Given the description of an element on the screen output the (x, y) to click on. 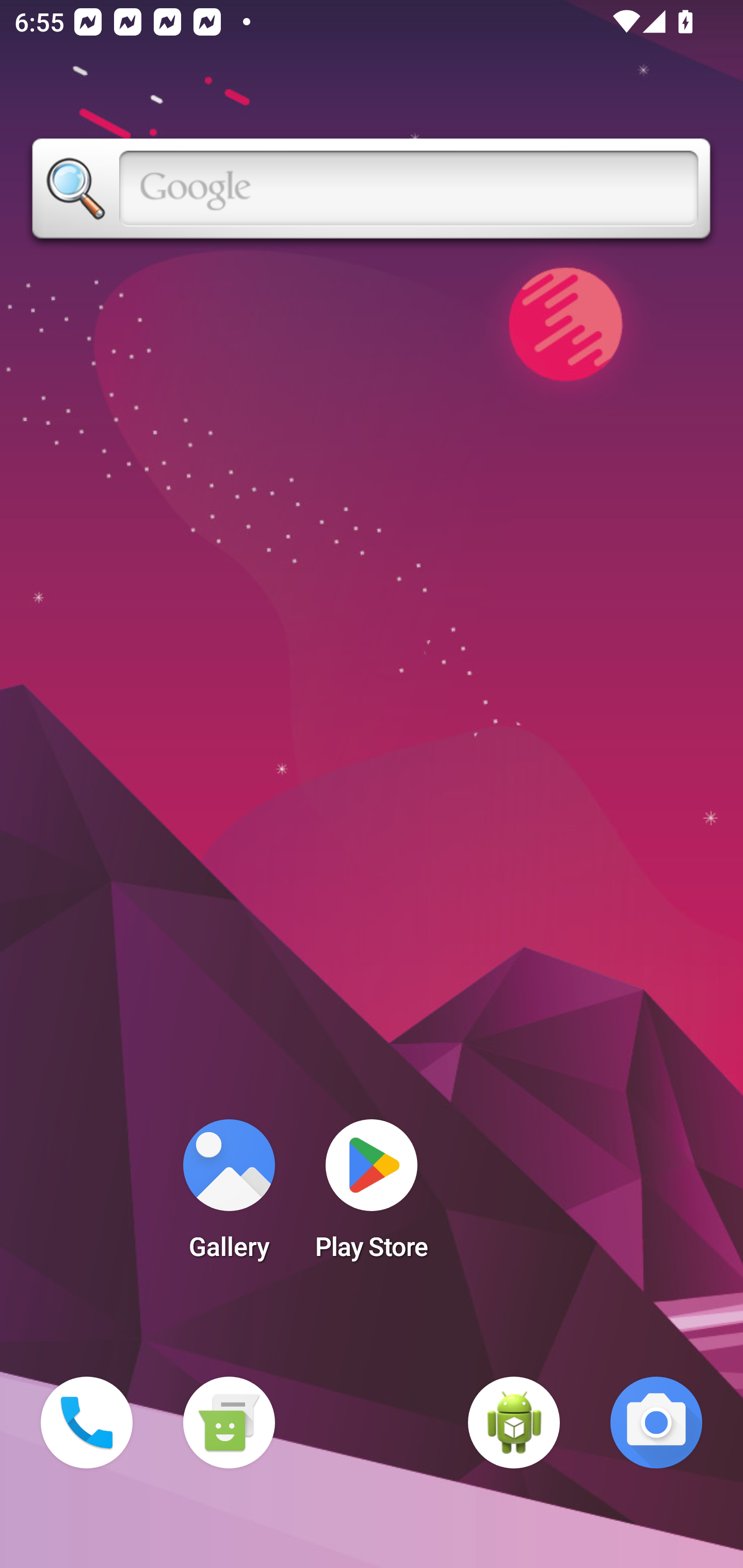
Gallery (228, 1195)
Play Store (371, 1195)
Phone (86, 1422)
Messaging (228, 1422)
WebView Browser Tester (513, 1422)
Camera (656, 1422)
